Given the description of an element on the screen output the (x, y) to click on. 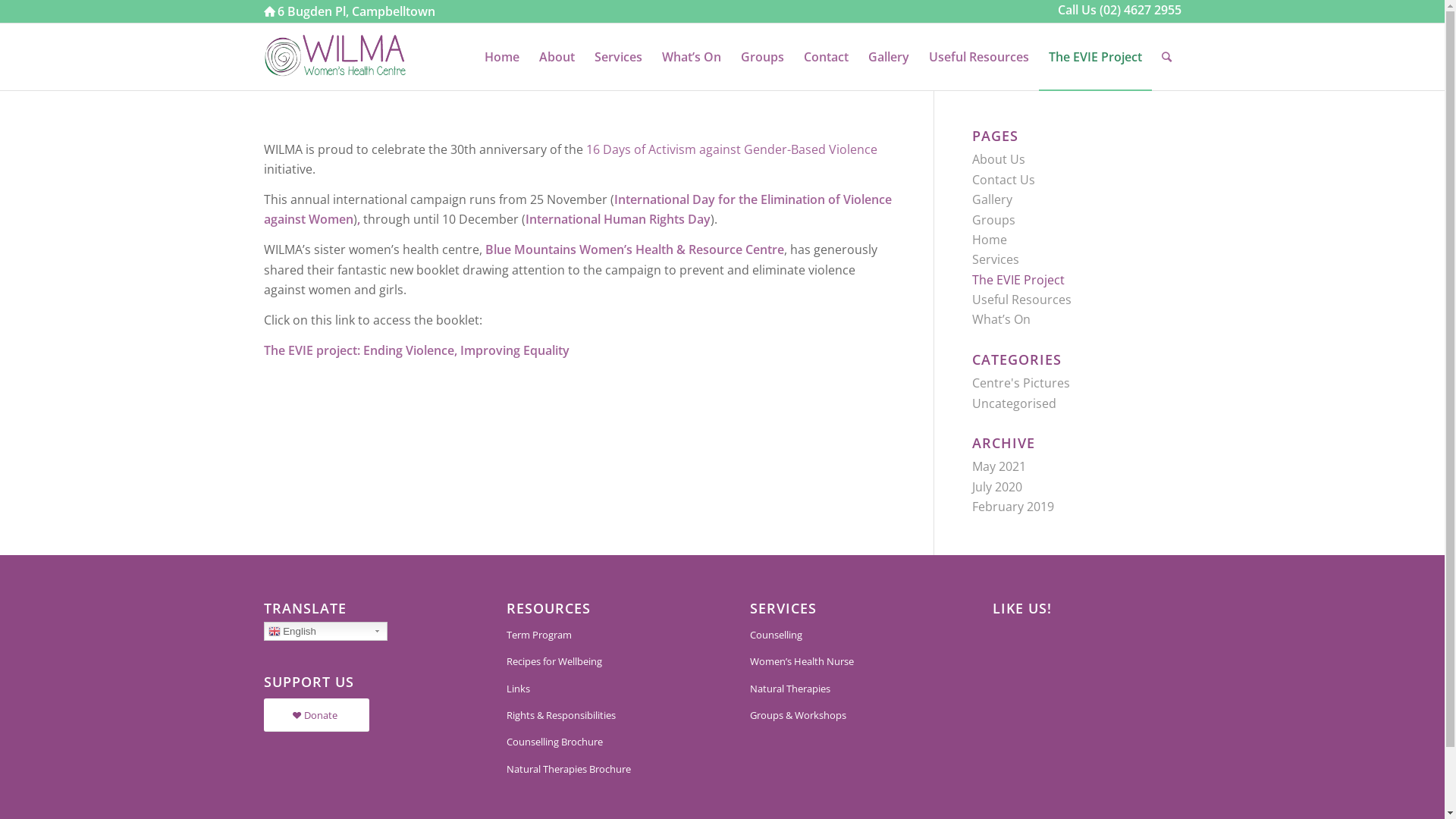
Uncategorised Element type: text (1014, 403)
Centre's Pictures Element type: text (1021, 382)
Useful Resources Element type: text (978, 56)
Natural Therapies Brochure Element type: text (600, 769)
Gallery Element type: text (888, 56)
Rights & Responsibilities Element type: text (600, 715)
Useful Resources Element type: text (1021, 299)
Gallery Element type: text (992, 199)
Contact Element type: text (825, 56)
Counselling Brochure Element type: text (600, 741)
Services Element type: text (995, 259)
Donate Element type: text (316, 715)
About Us Element type: text (998, 158)
Groups & Workshops Element type: text (843, 715)
Home Element type: text (989, 239)
The EVIE Project Element type: text (1094, 56)
Links Element type: text (600, 688)
English Element type: text (325, 630)
Recipes for Wellbeing Element type: text (600, 661)
February 2019 Element type: text (1013, 506)
Groups Element type: text (993, 219)
Home Element type: text (501, 56)
Term Program Element type: text (600, 634)
The EVIE project: Ending Violence, Improving Equality Element type: text (416, 350)
16 Days of Activism against Gender-Based Violence Element type: text (730, 149)
Counselling Element type: text (843, 634)
Groups Element type: text (762, 56)
Contact Us Element type: text (1003, 179)
July 2020 Element type: text (997, 486)
Natural Therapies Element type: text (843, 688)
May 2021 Element type: text (999, 466)
Services Element type: text (617, 56)
About Element type: text (556, 56)
The EVIE Project Element type: text (1018, 279)
